Given the description of an element on the screen output the (x, y) to click on. 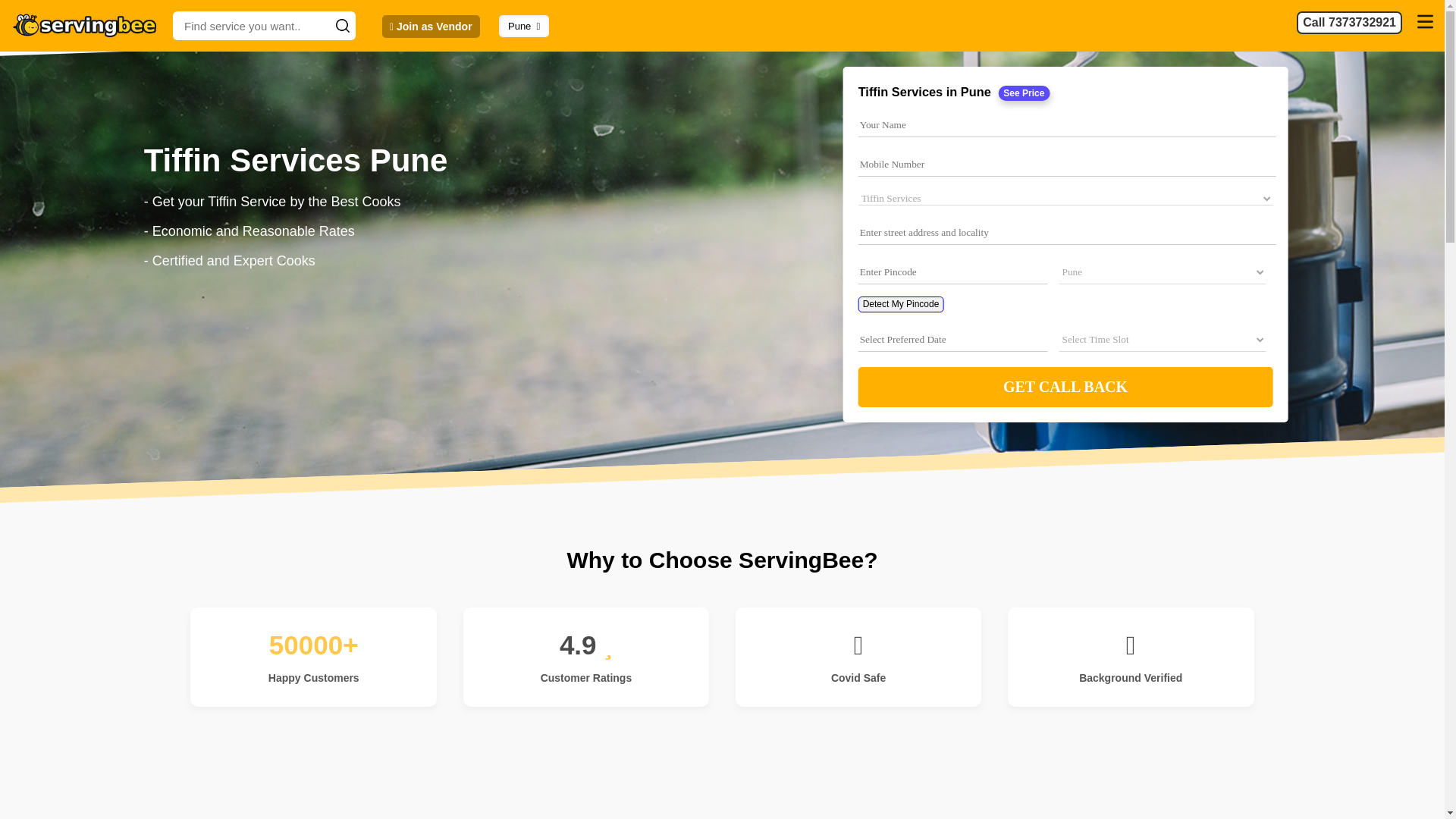
Get Call Back (1064, 386)
Join as Vendor (430, 26)
Get Call Back (1064, 386)
